Given the description of an element on the screen output the (x, y) to click on. 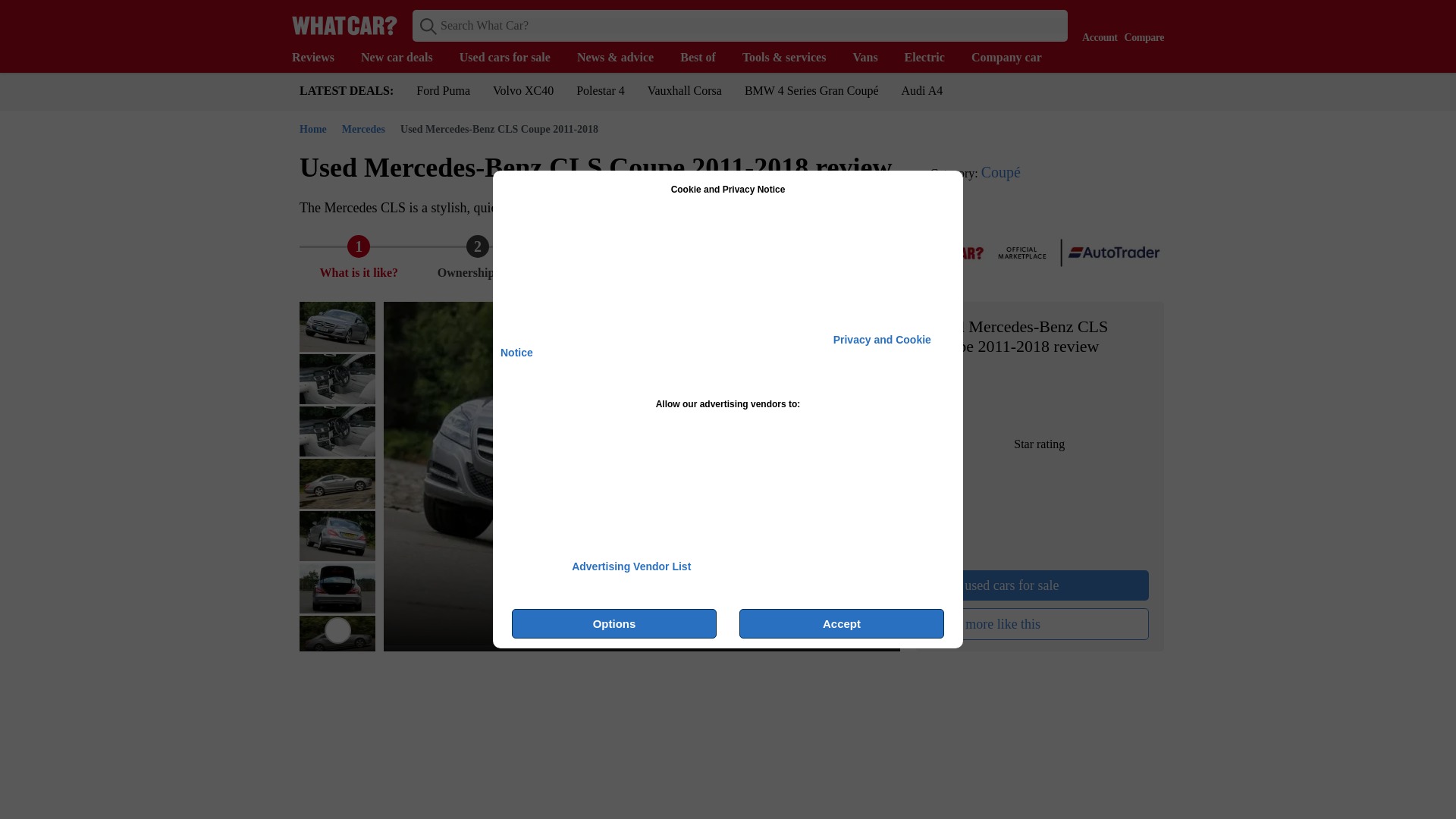
Best of (704, 57)
Used cars for sale (513, 57)
Company car (1014, 57)
Electric (931, 57)
Vans (871, 57)
New car deals (404, 57)
Account (1095, 24)
Compare (1140, 24)
Reviews (320, 57)
WhatCar? logo (344, 25)
